Given the description of an element on the screen output the (x, y) to click on. 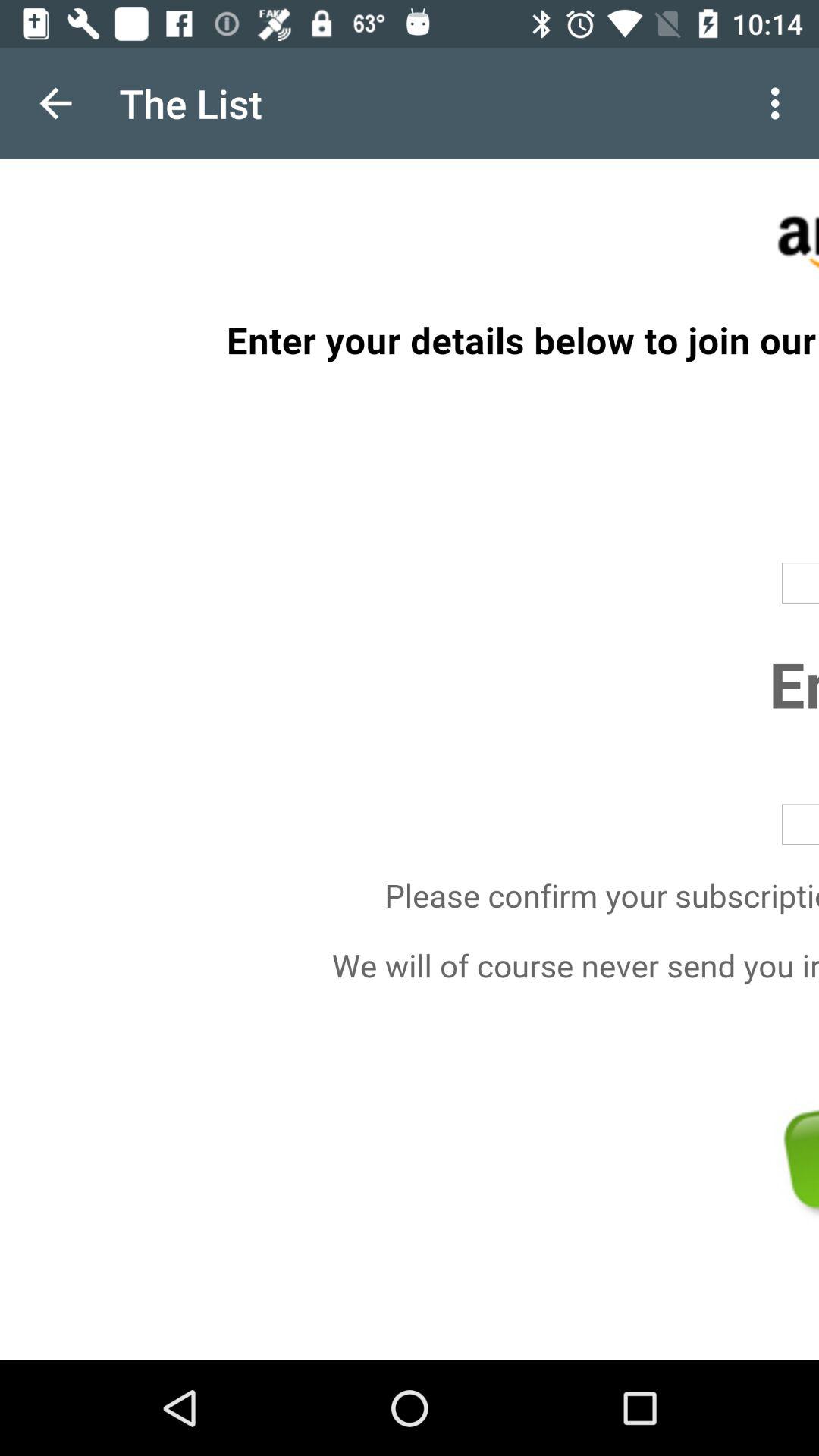
choose the icon to the left of the the list item (55, 103)
